Given the description of an element on the screen output the (x, y) to click on. 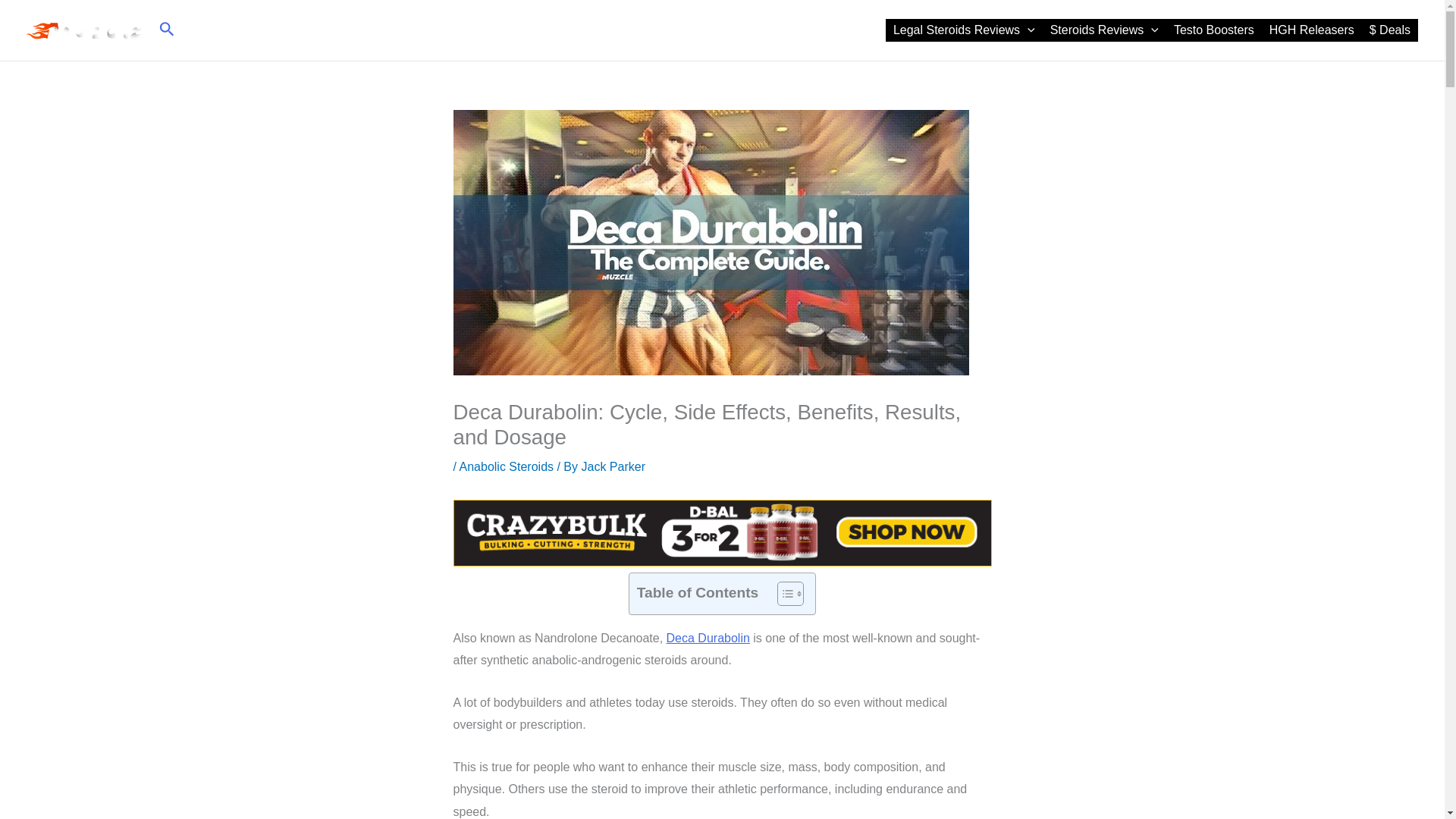
Steroids Reviews (1104, 29)
Legal Steroids Reviews (963, 29)
View all posts by Jack Parker (612, 466)
